Given the description of an element on the screen output the (x, y) to click on. 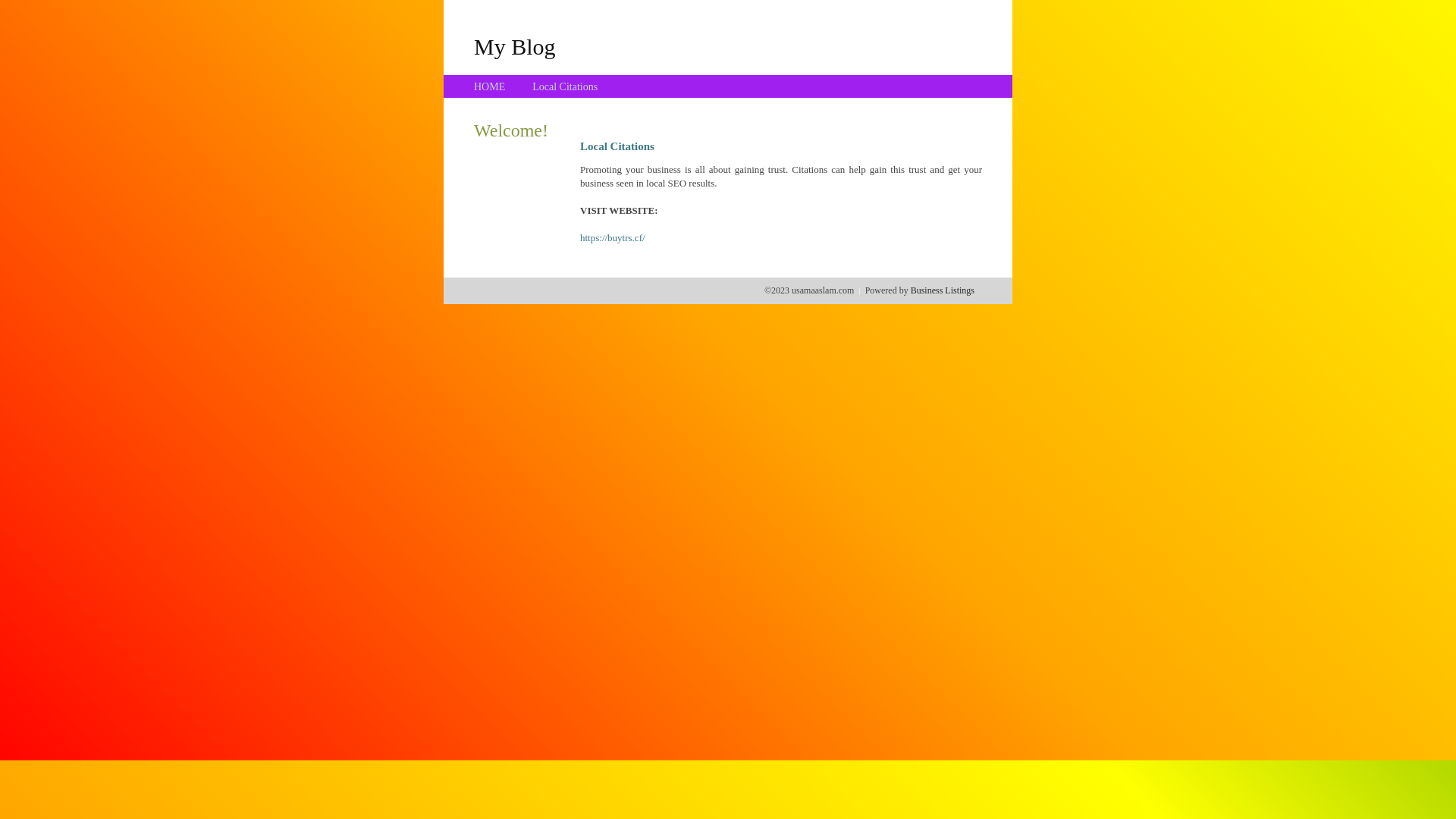
HOME Element type: text (489, 86)
Local Citations Element type: text (564, 86)
https://buytrs.cf/ Element type: text (612, 237)
My Blog Element type: text (514, 46)
Business Listings Element type: text (942, 290)
